Given the description of an element on the screen output the (x, y) to click on. 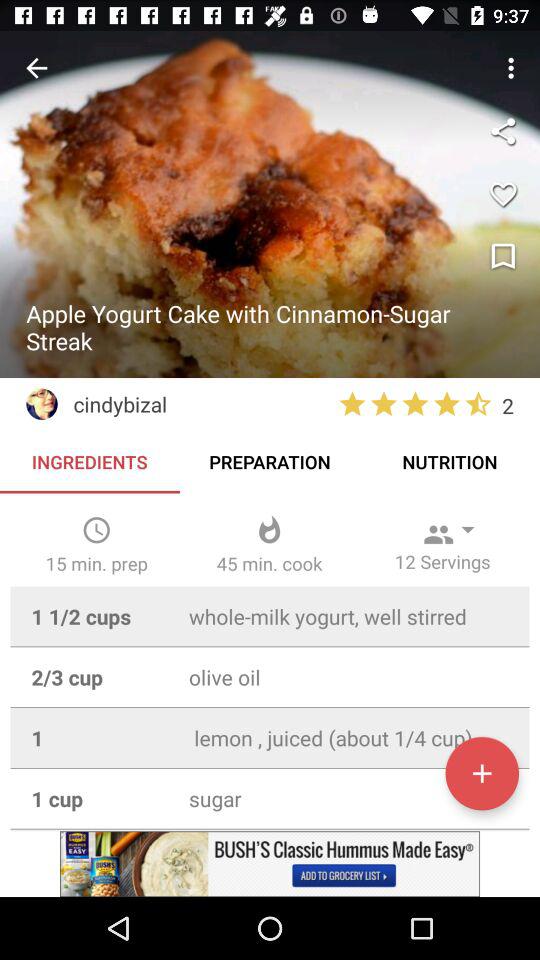
add to favorites (503, 194)
